Given the description of an element on the screen output the (x, y) to click on. 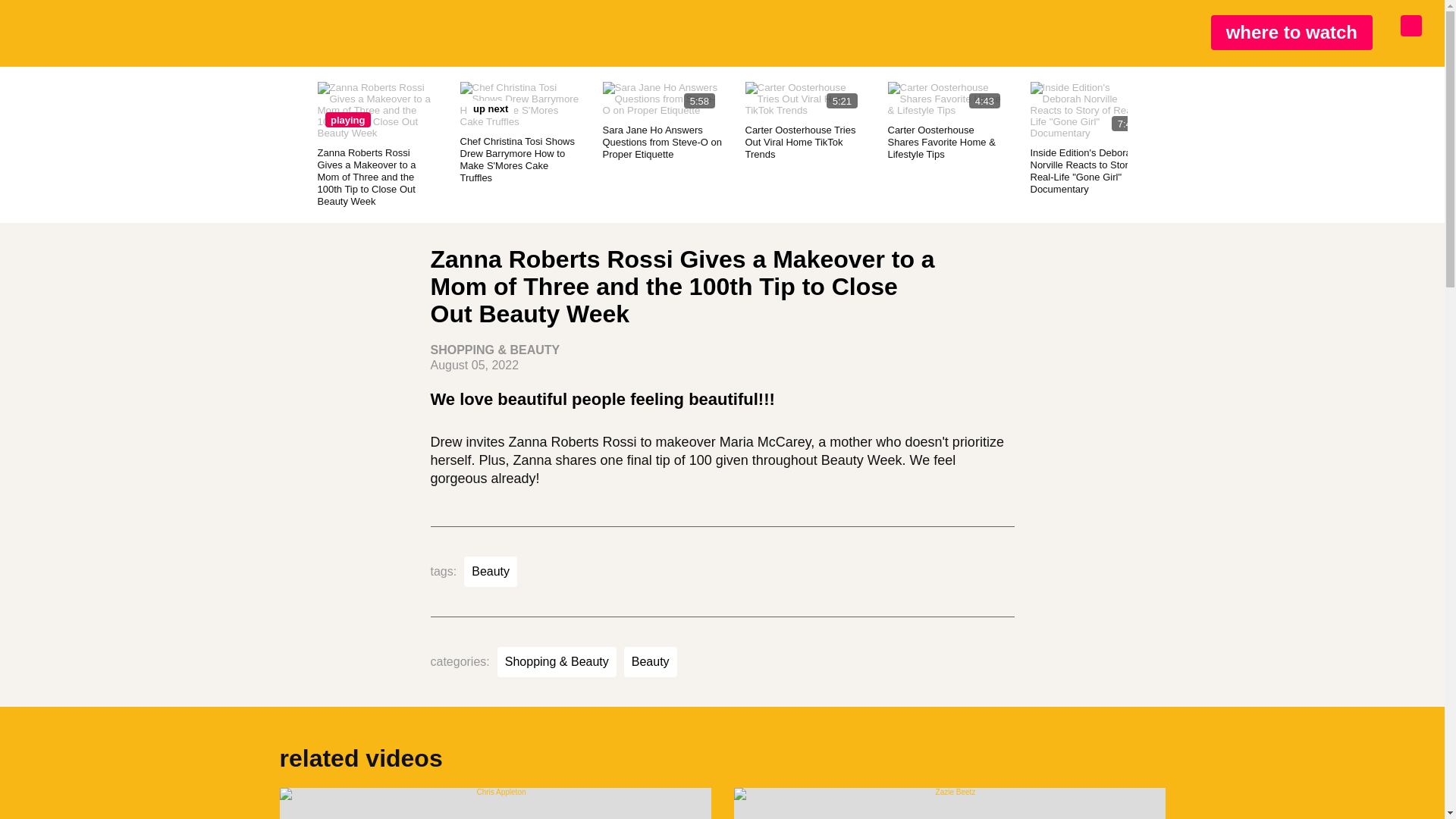
where to watch (1292, 32)
